Given the description of an element on the screen output the (x, y) to click on. 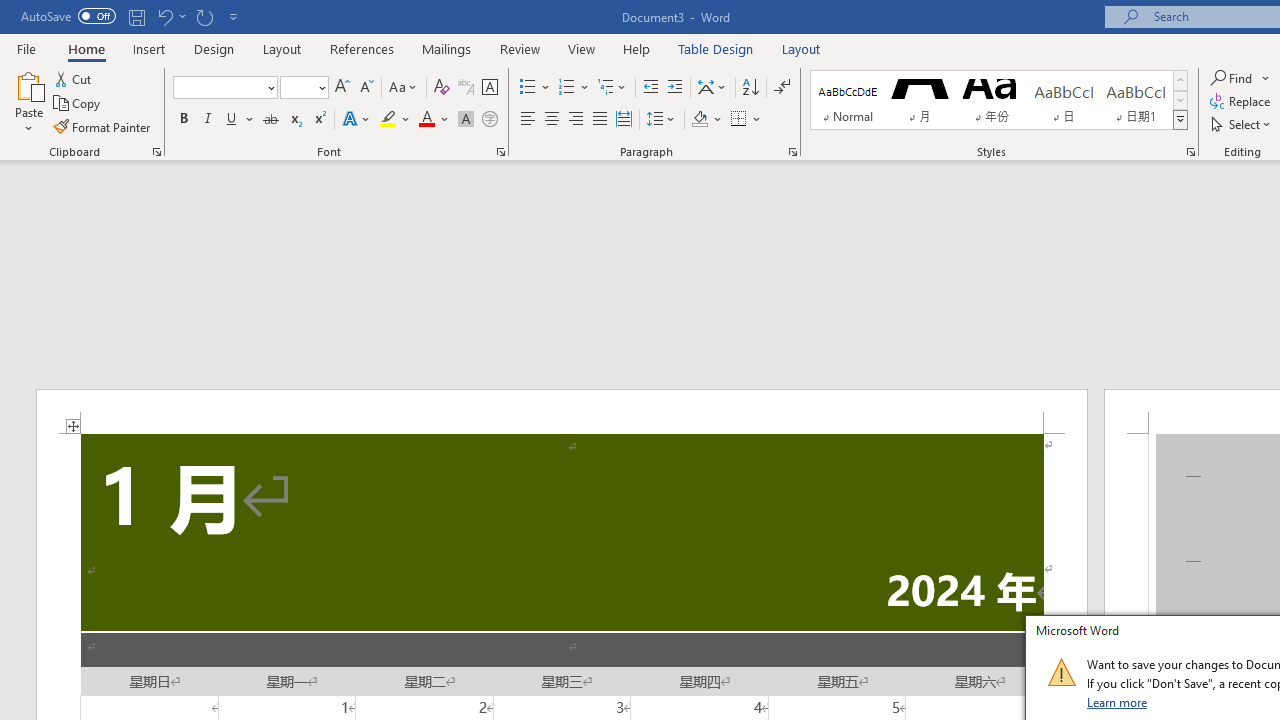
Mailings (447, 48)
Table Design (715, 48)
Find (1233, 78)
